Given the description of an element on the screen output the (x, y) to click on. 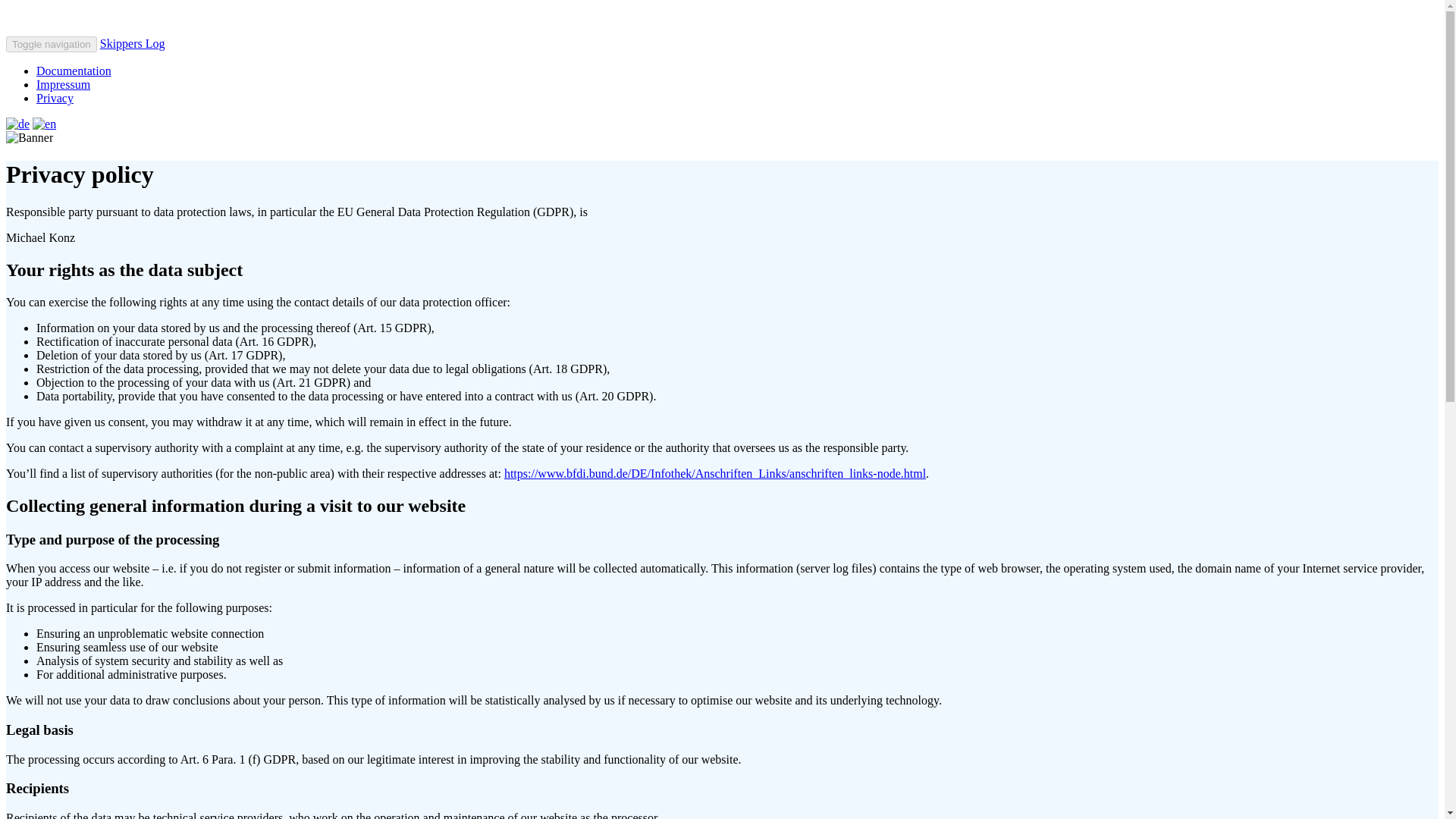
Impressum (63, 83)
Toggle navigation (51, 44)
Skippers Log (132, 42)
Documentation (74, 70)
Privacy (55, 97)
